Given the description of an element on the screen output the (x, y) to click on. 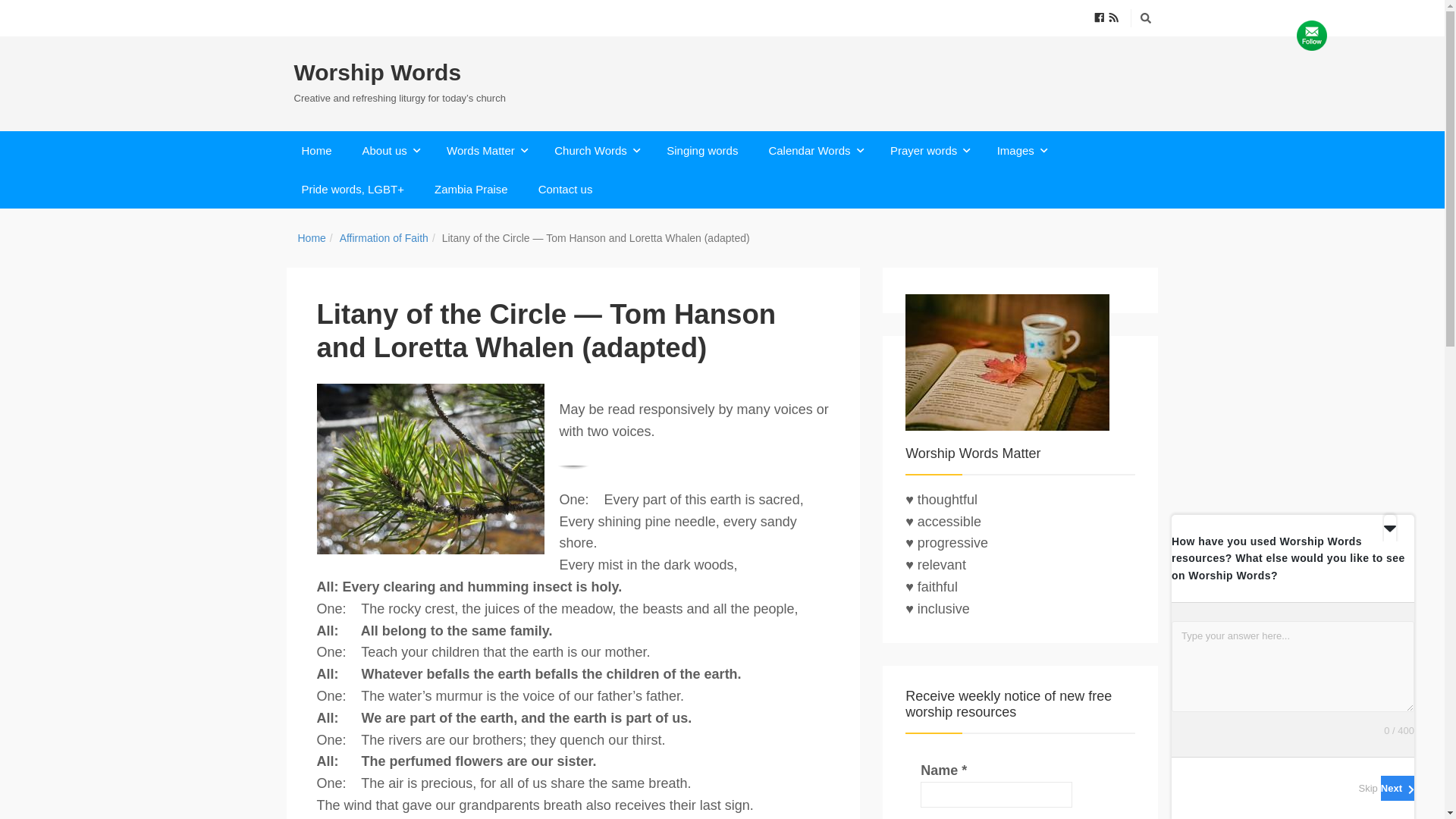
Name (995, 794)
Church Words (594, 150)
Words Matter (484, 150)
Affirmation of Faith (383, 237)
About us (389, 150)
Home (310, 237)
Home (316, 150)
Worship Words (399, 72)
Worship Words (399, 72)
